Given the description of an element on the screen output the (x, y) to click on. 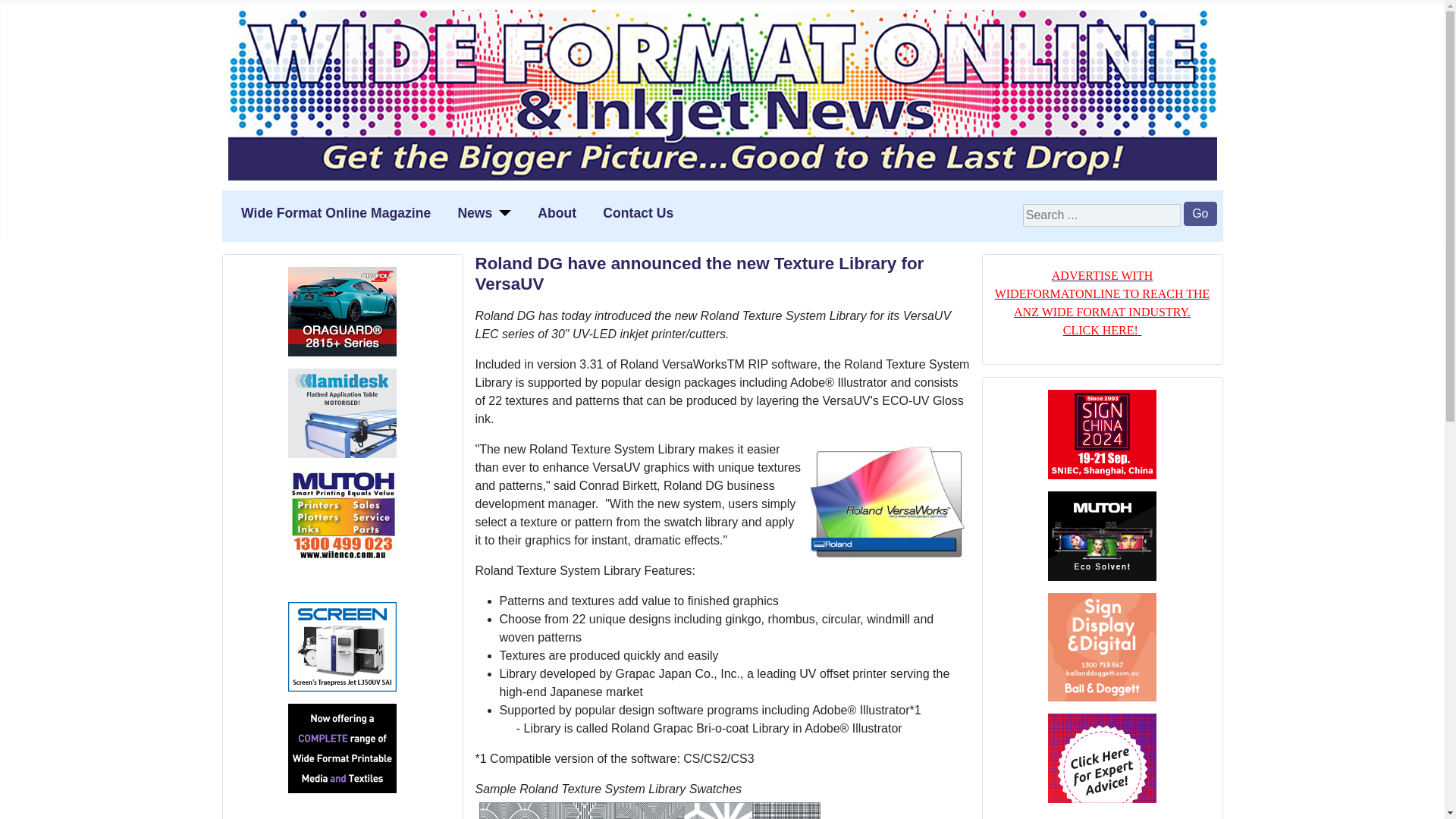
Advertising on wideformatonline.com (1101, 302)
Wide Format Online Magazine (335, 212)
News (474, 212)
Go (1199, 213)
Contact Us (637, 212)
About (556, 212)
